Given the description of an element on the screen output the (x, y) to click on. 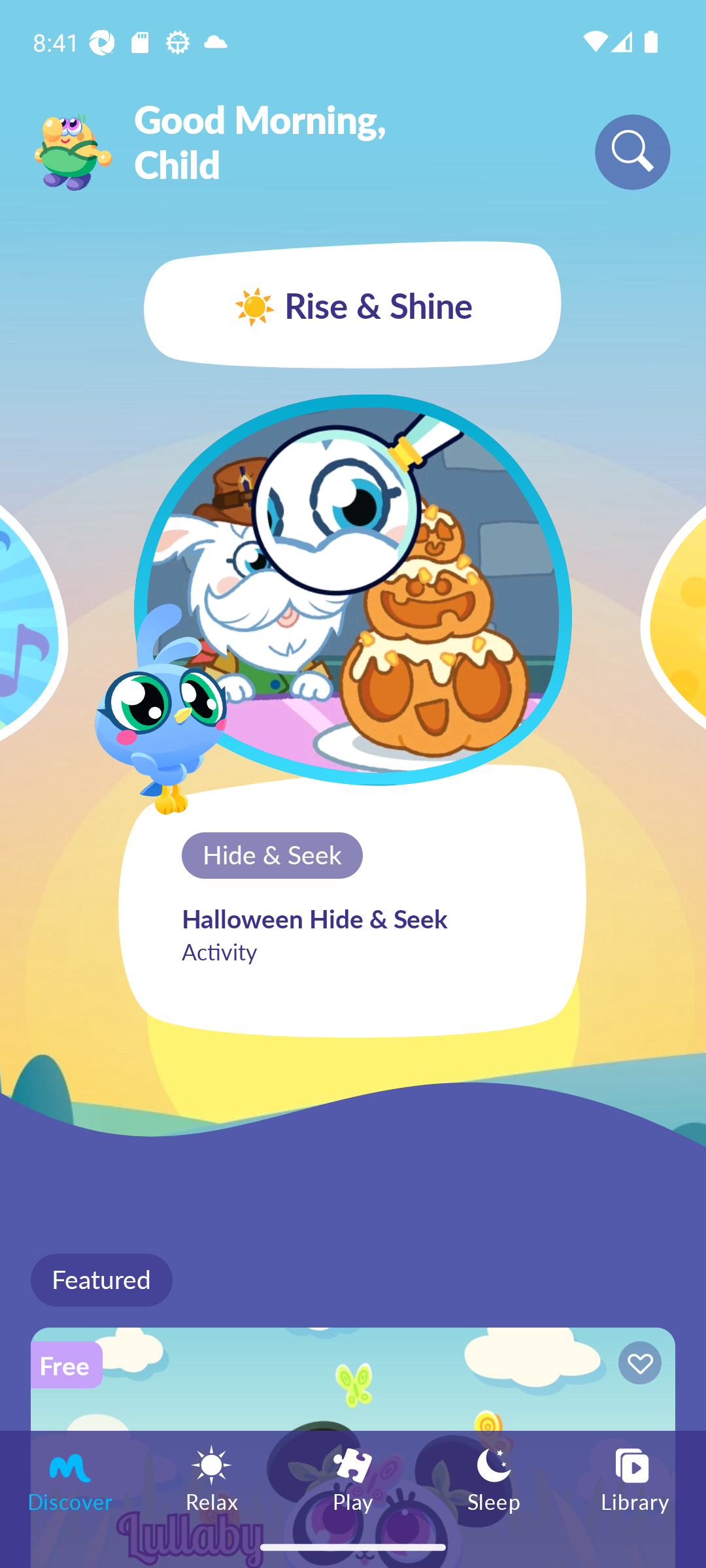
Search (632, 151)
Button (636, 1365)
Relax (211, 1478)
Play (352, 1478)
Sleep (493, 1478)
Library (635, 1478)
